Given the description of an element on the screen output the (x, y) to click on. 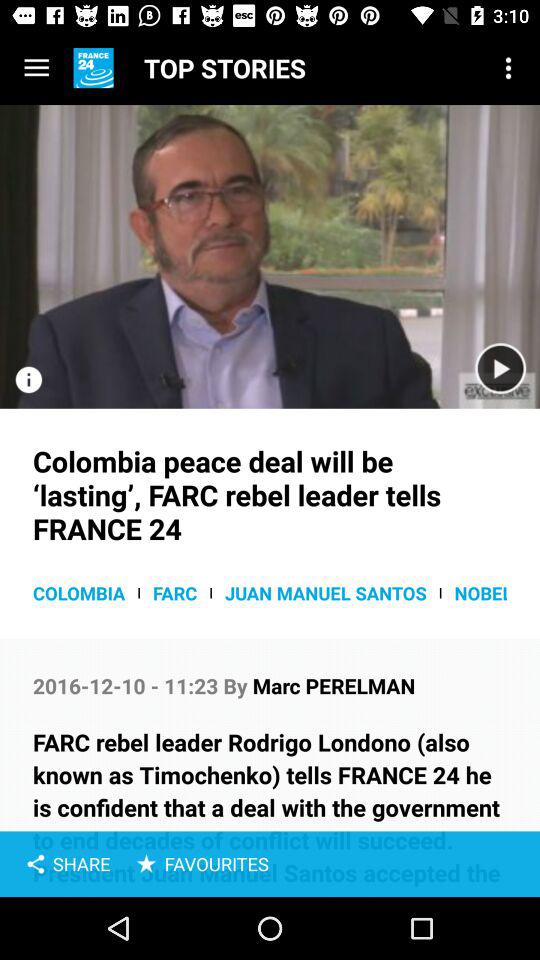
show options (36, 68)
